Given the description of an element on the screen output the (x, y) to click on. 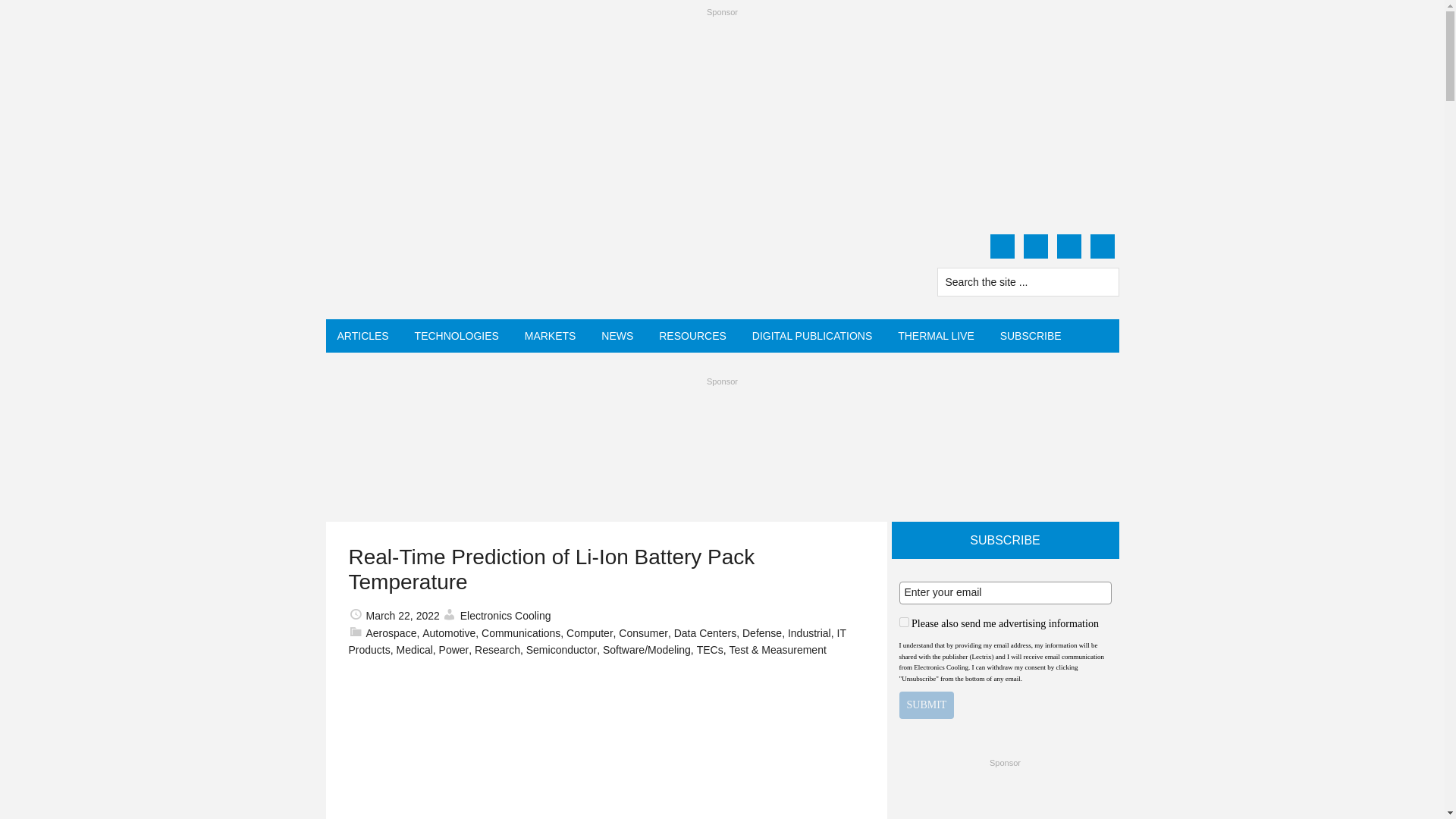
MARKETS (550, 335)
3rd party ad content (721, 427)
ARTICLES (363, 335)
Please also send me advertising information (903, 622)
3rd party ad content (1005, 796)
Electronics Cooling (470, 268)
TECHNOLOGIES (457, 335)
